Given the description of an element on the screen output the (x, y) to click on. 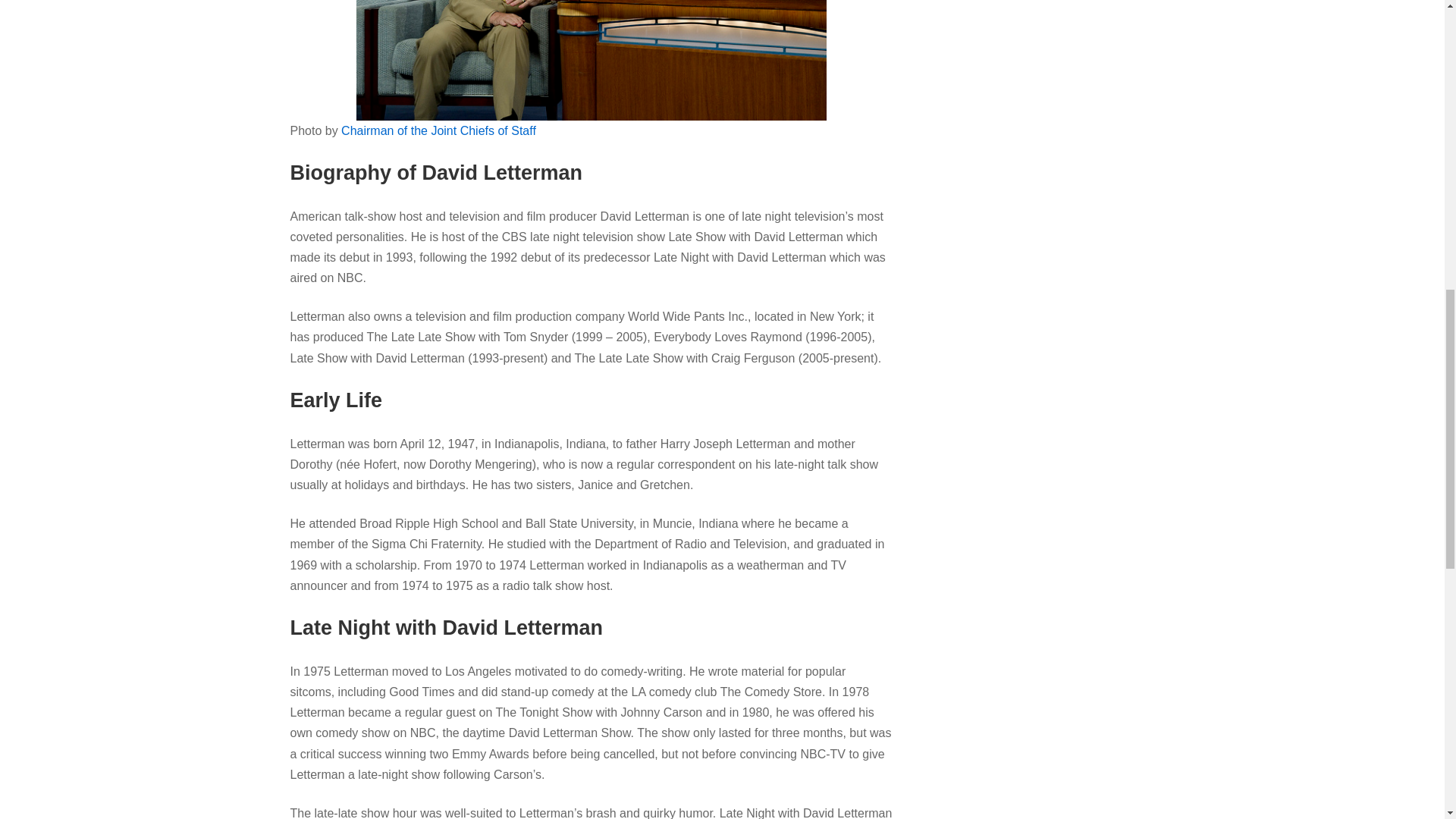
Chairman of the Joint Chiefs of Staff (437, 130)
